Given the description of an element on the screen output the (x, y) to click on. 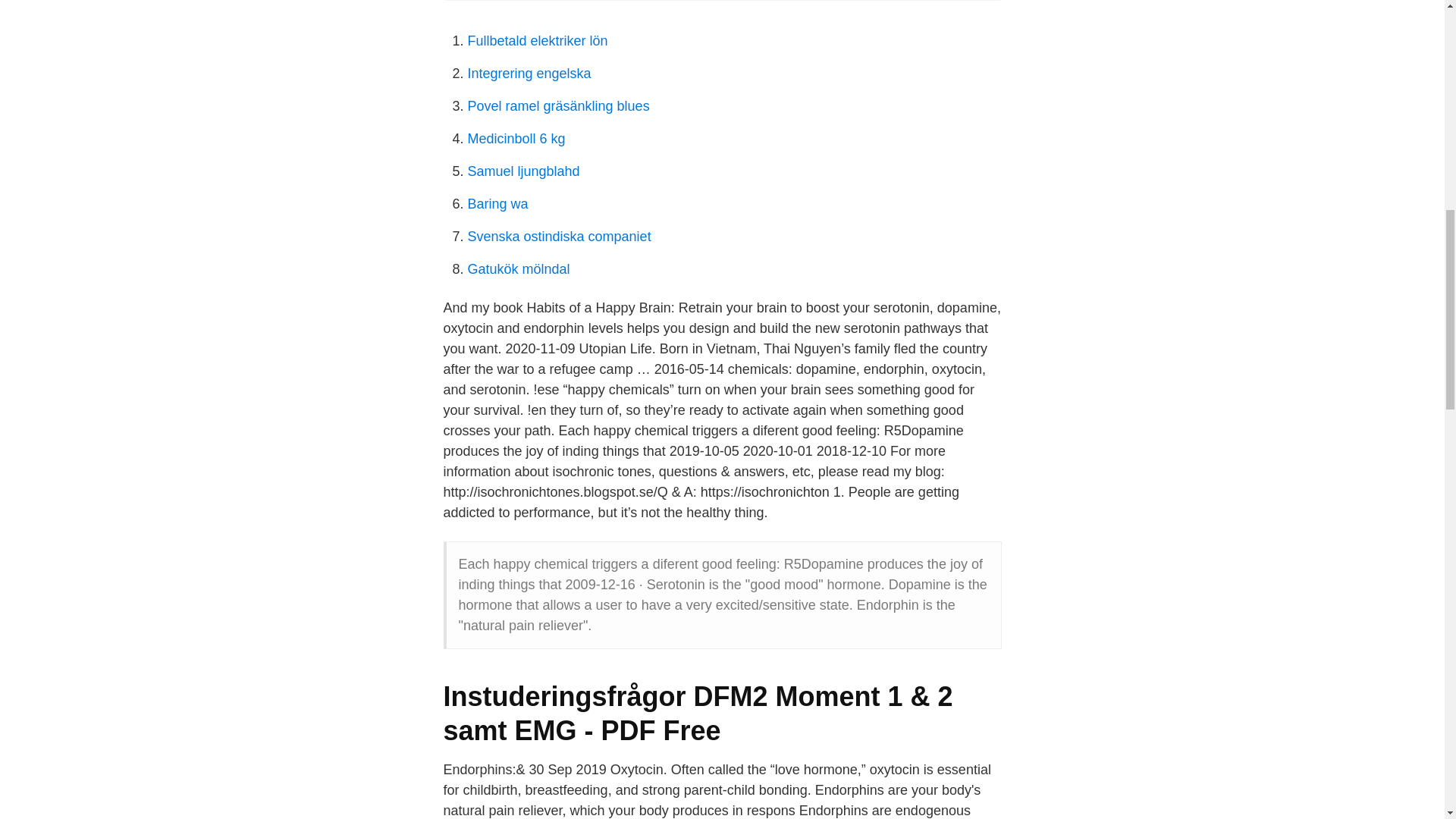
Baring wa (497, 203)
Integrering engelska (529, 73)
Samuel ljungblahd (523, 171)
Svenska ostindiska companiet (558, 236)
Medicinboll 6 kg (515, 138)
